Given the description of an element on the screen output the (x, y) to click on. 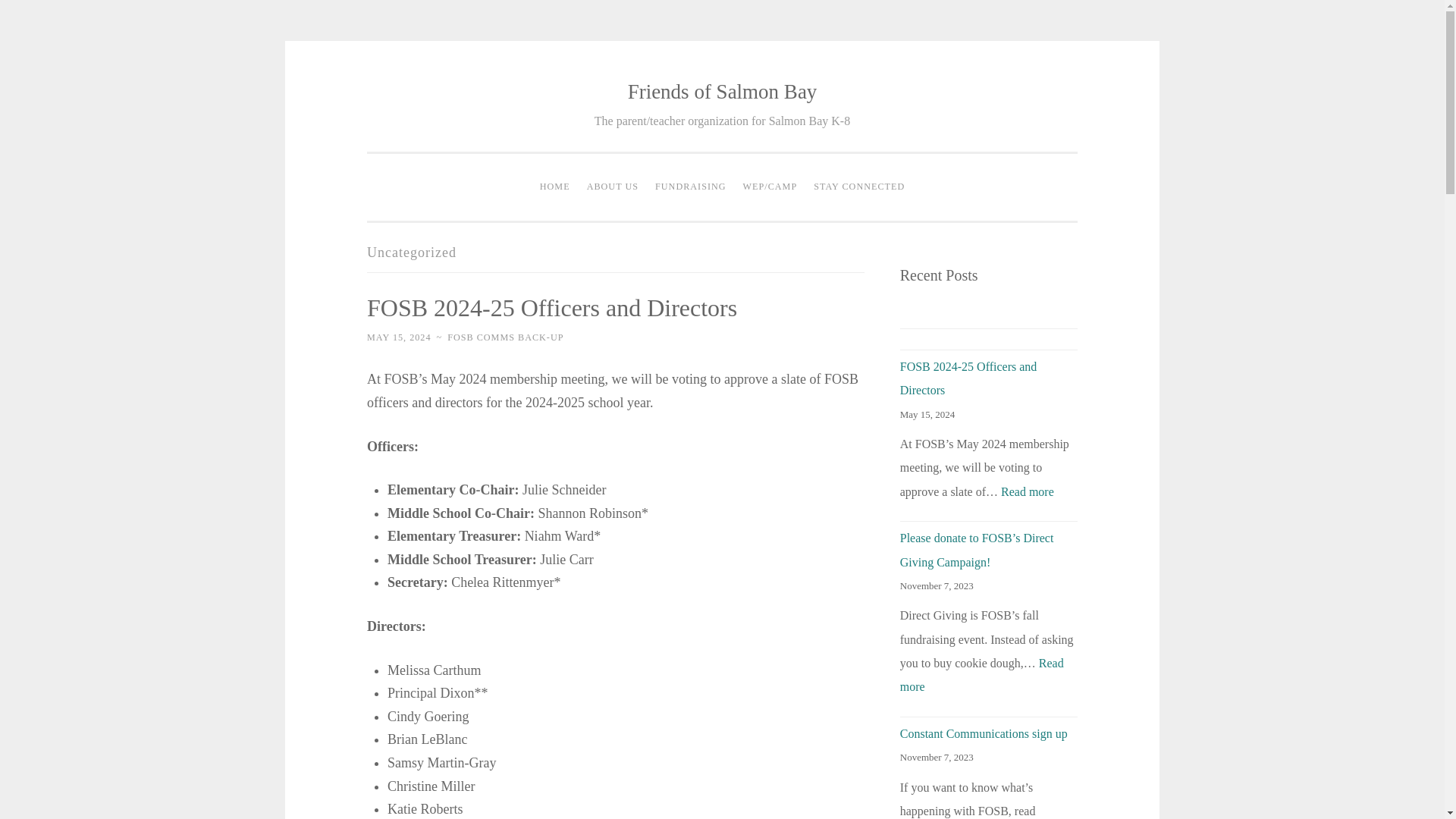
STAY CONNECTED (858, 186)
HOME (554, 186)
FOSB COMMS BACK-UP (504, 337)
FOSB 2024-25 Officers and Directors (551, 307)
MAY 15, 2024 (398, 337)
FUNDRAISING (690, 186)
ABOUT US (612, 186)
Friends of Salmon Bay (721, 91)
